Given the description of an element on the screen output the (x, y) to click on. 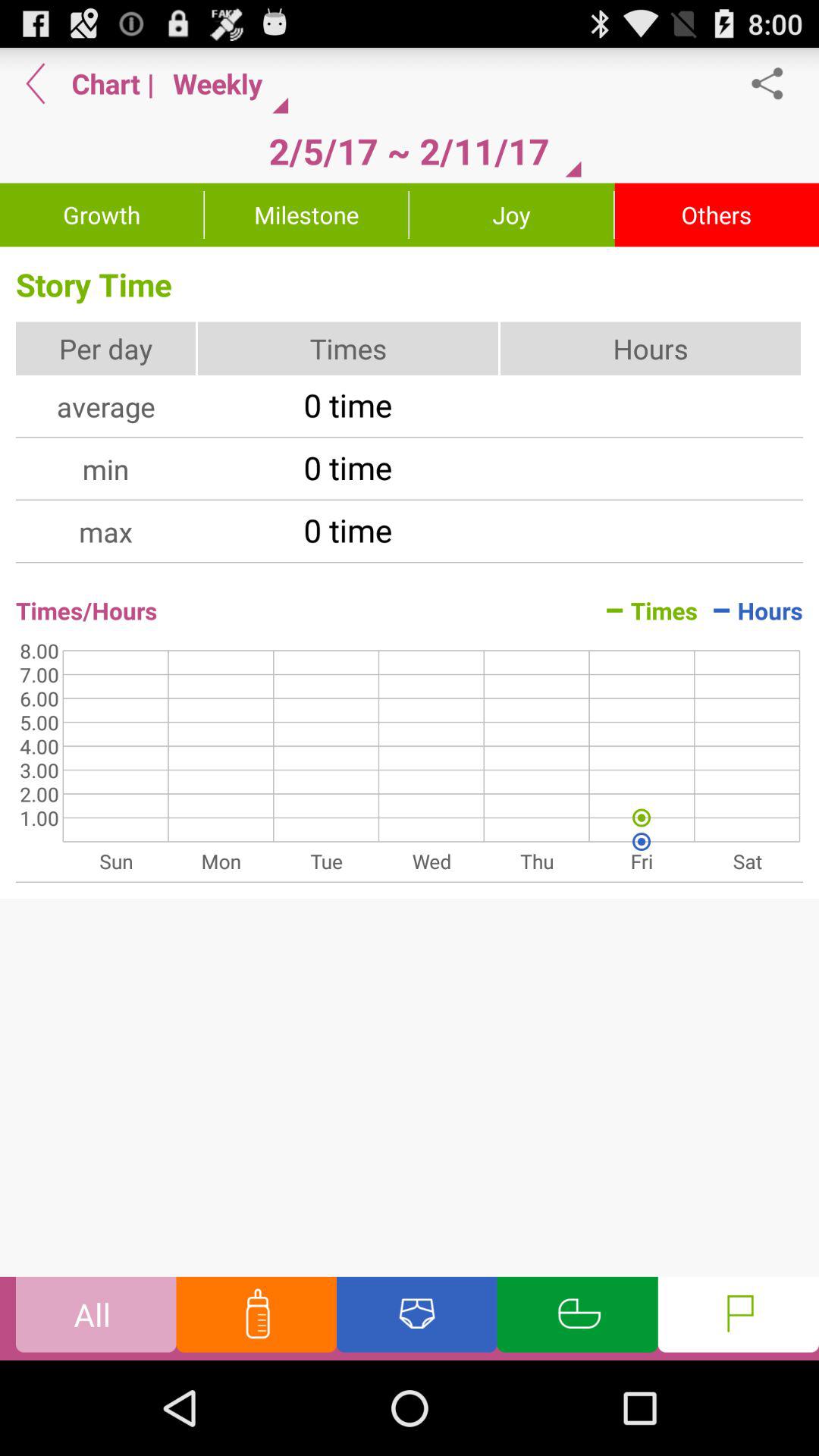
press the icon above the others button (775, 83)
